Given the description of an element on the screen output the (x, y) to click on. 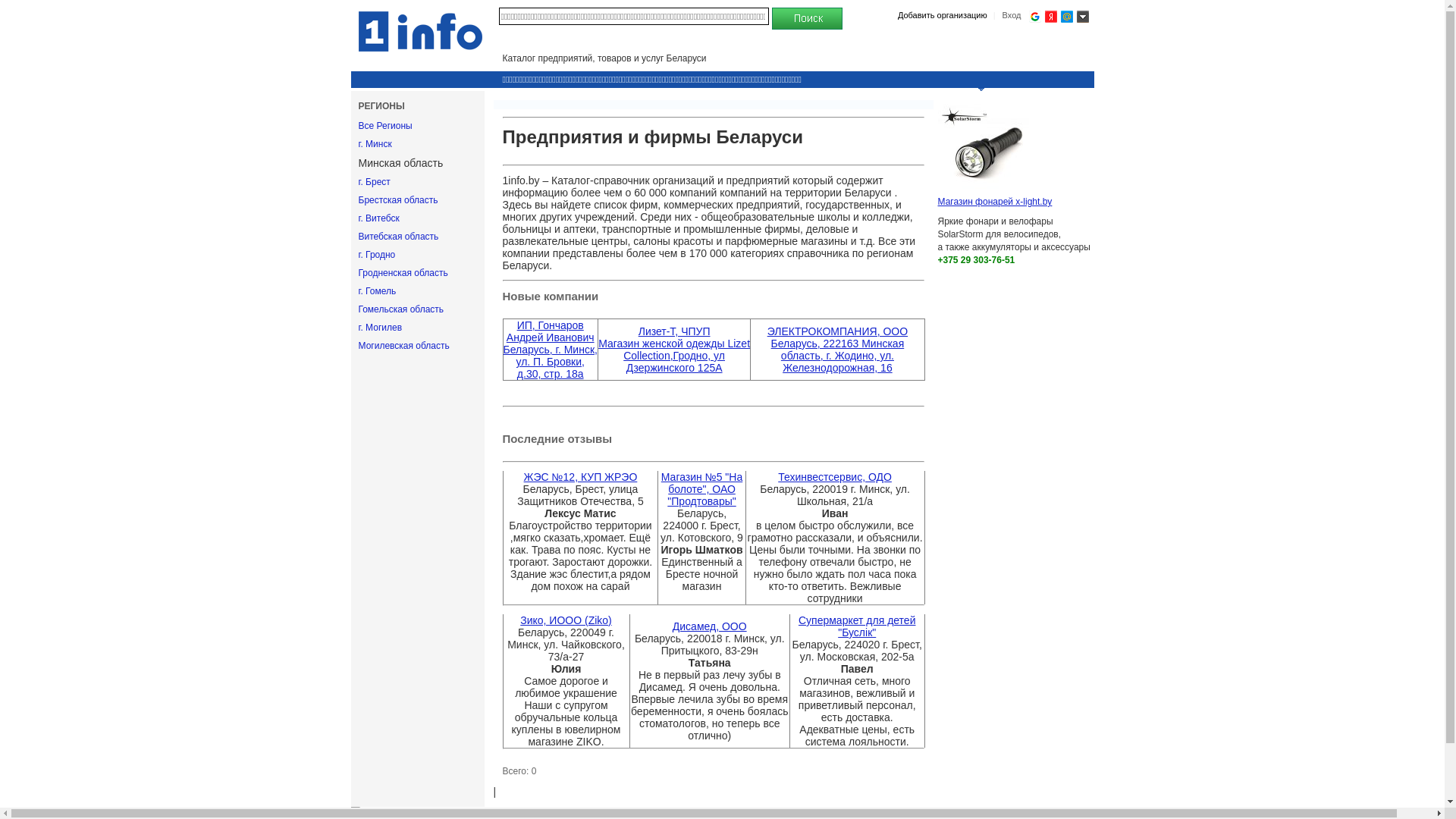
1 info Element type: hover (419, 31)
Yandex Element type: hover (1050, 16)
Google Element type: hover (1034, 16)
Go Fetch! Element type: hover (806, 18)
Mail.ru Element type: hover (1066, 16)
